Given the description of an element on the screen output the (x, y) to click on. 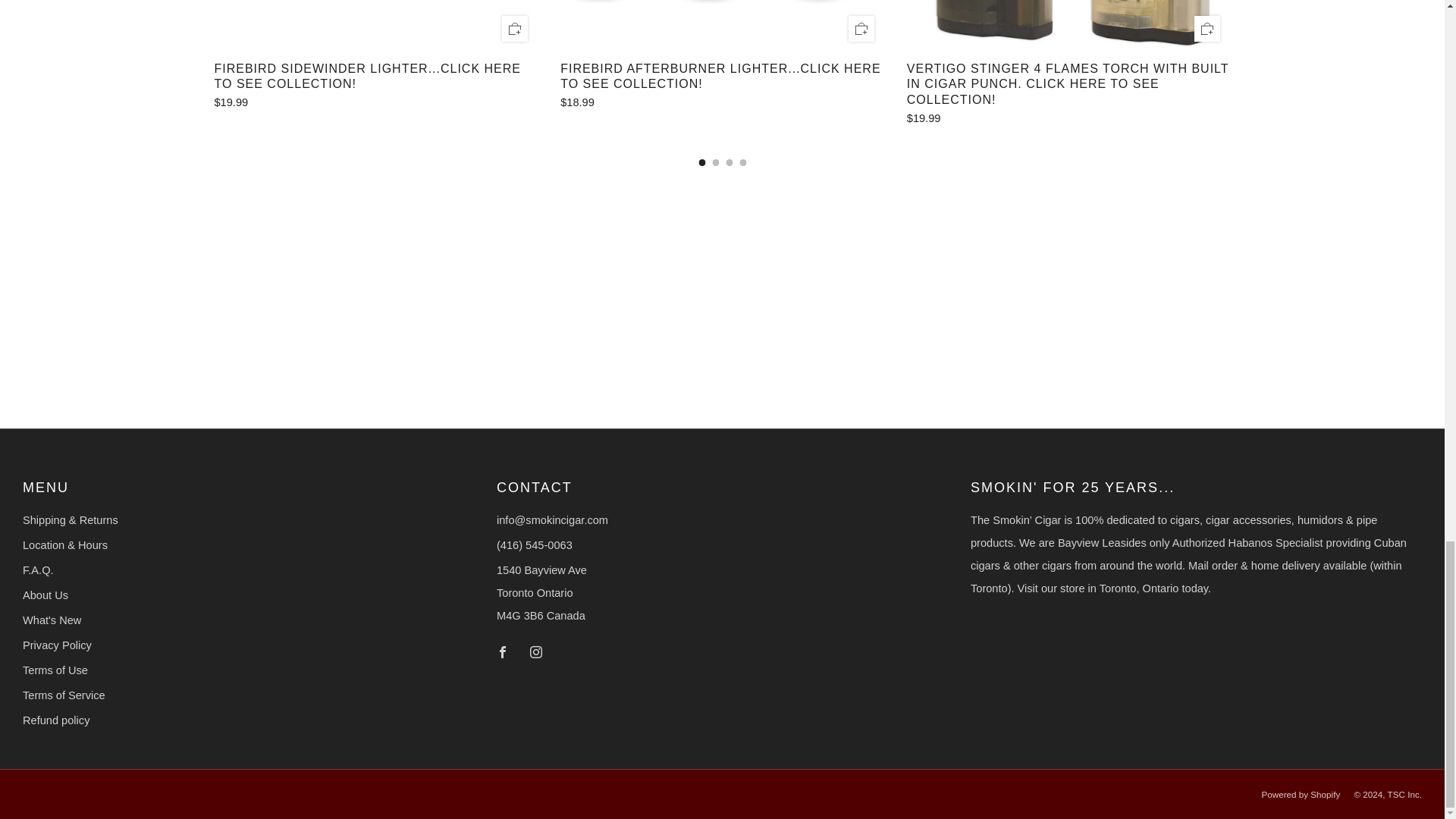
Firebird Sidewinder Lighter...Click here to see Collection! (375, 77)
Firebird Sidewinder Lighter...Click here to see Collection! (375, 102)
Firebird Afterburner Lighter...Click here to see Collection! (721, 102)
Firebird Afterburner Lighter...Click here to see Collection! (721, 77)
